Given the description of an element on the screen output the (x, y) to click on. 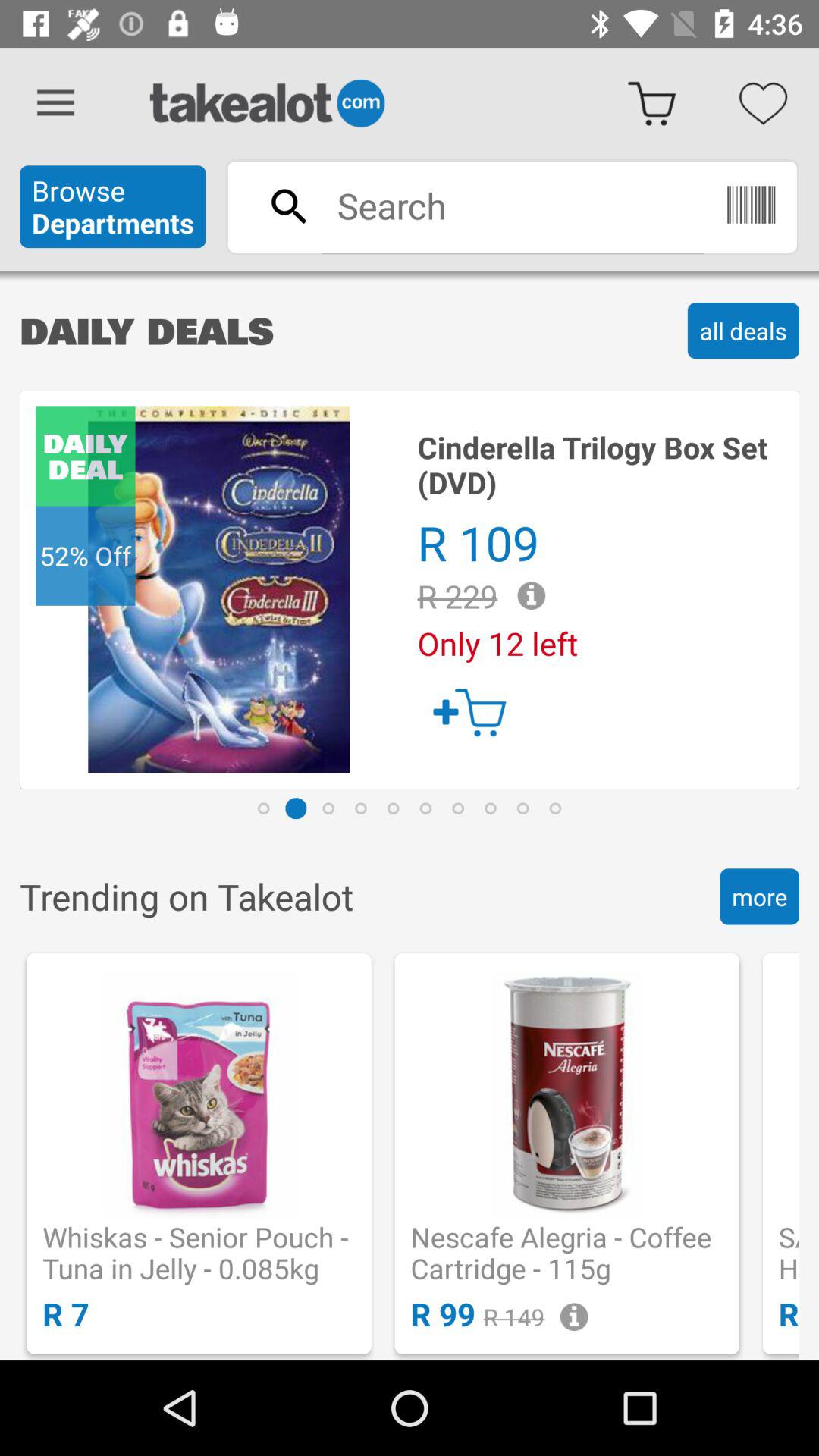
search button (512, 205)
